Given the description of an element on the screen output the (x, y) to click on. 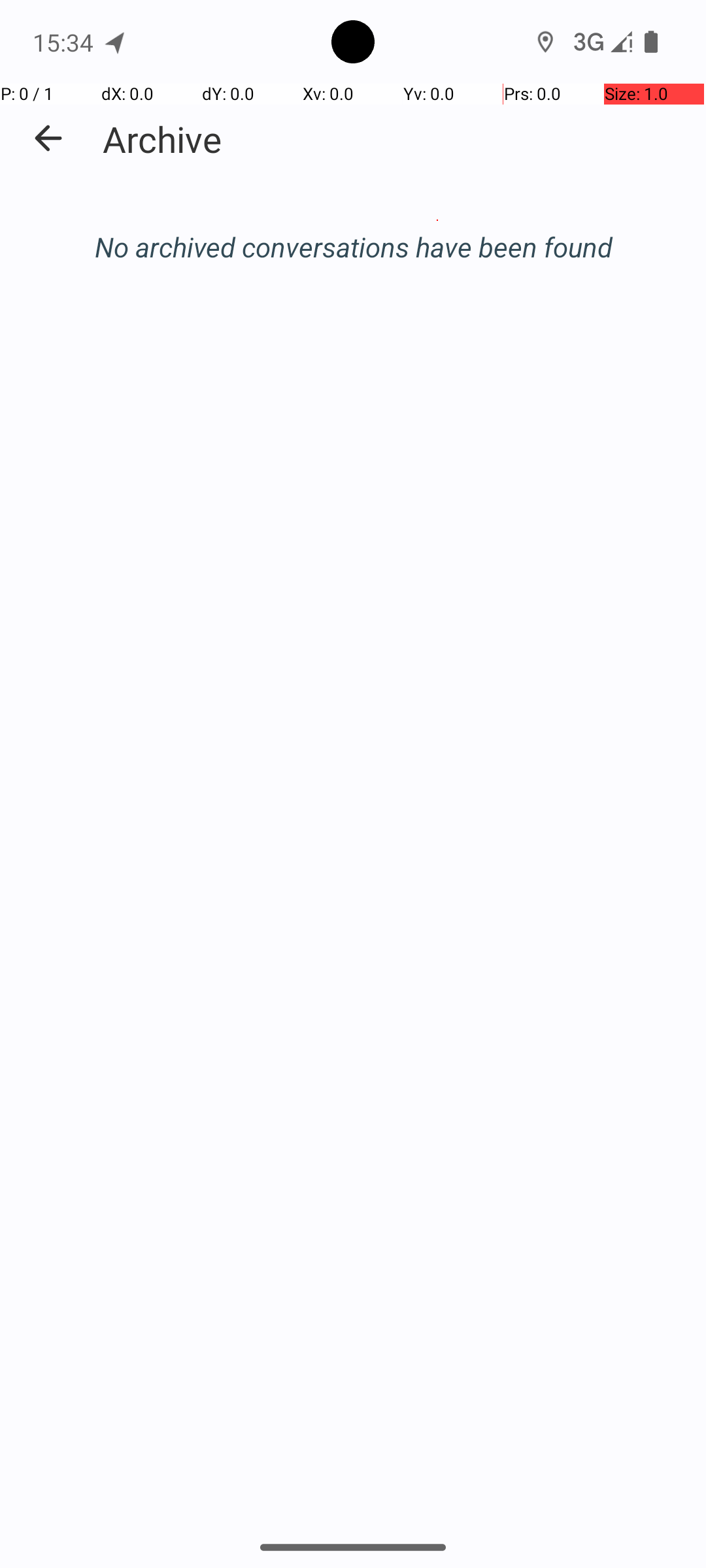
Archive Element type: android.widget.TextView (162, 138)
No archived conversations have been found Element type: android.widget.TextView (353, 246)
